Given the description of an element on the screen output the (x, y) to click on. 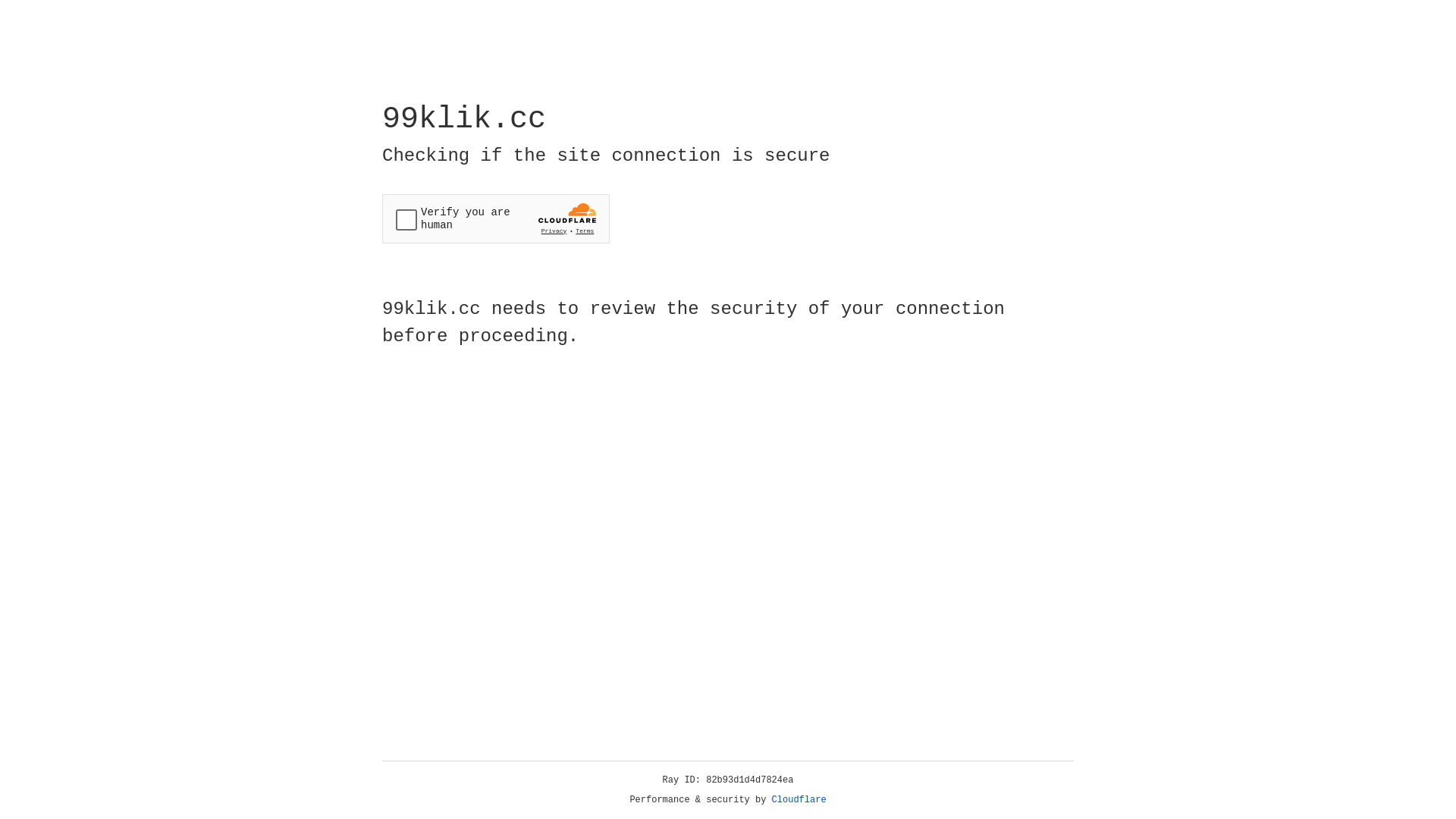
Cloudflare Element type: text (798, 799)
Widget containing a Cloudflare security challenge Element type: hover (495, 218)
